Given the description of an element on the screen output the (x, y) to click on. 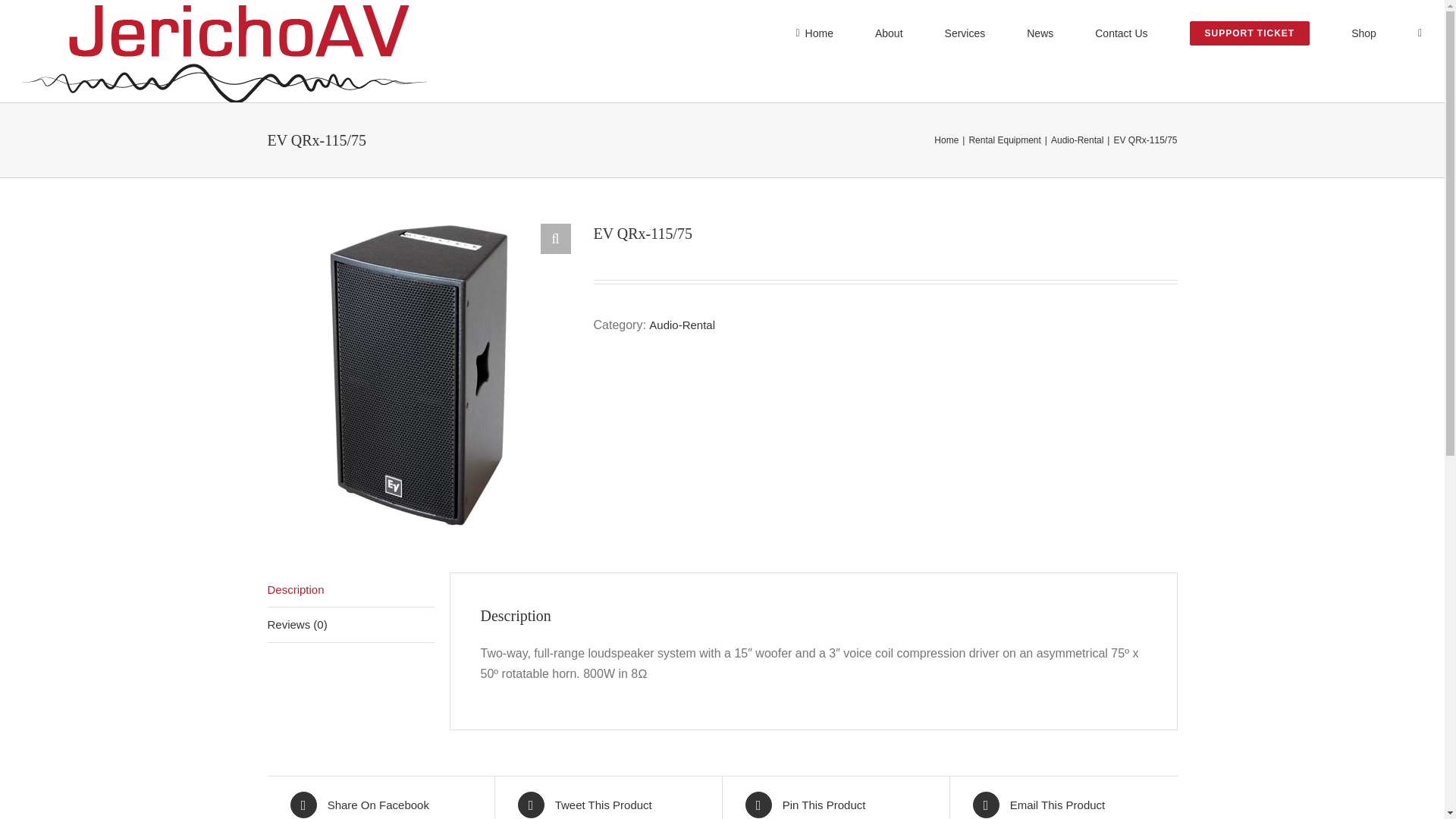
SUPPORT TICKET (1248, 31)
EV-qrx11575.jpeg (418, 375)
